Given the description of an element on the screen output the (x, y) to click on. 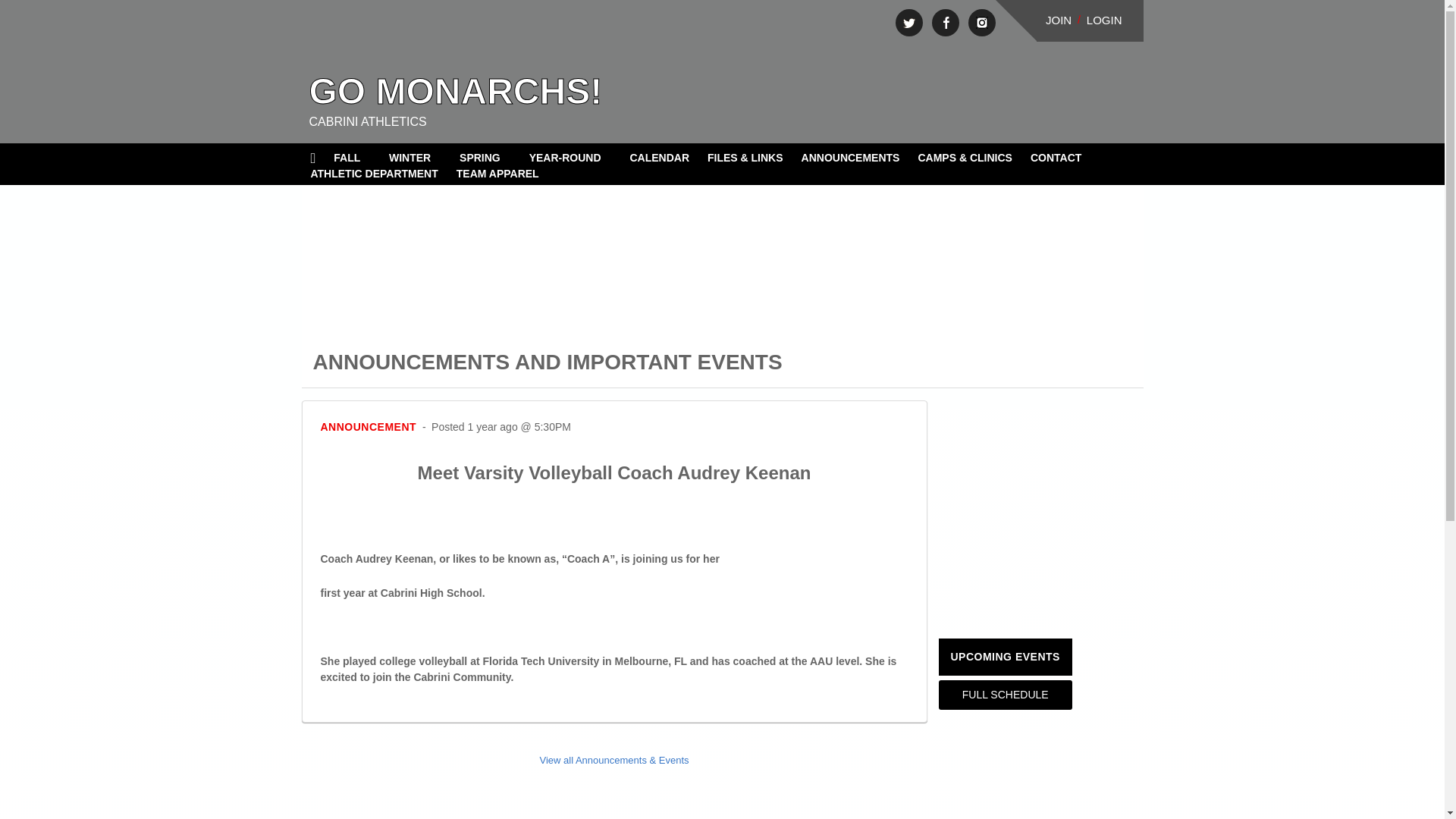
Banner Image (721, 243)
Opens new window (909, 22)
Home (312, 157)
Opens new window (981, 22)
Opens new window (945, 22)
